Given the description of an element on the screen output the (x, y) to click on. 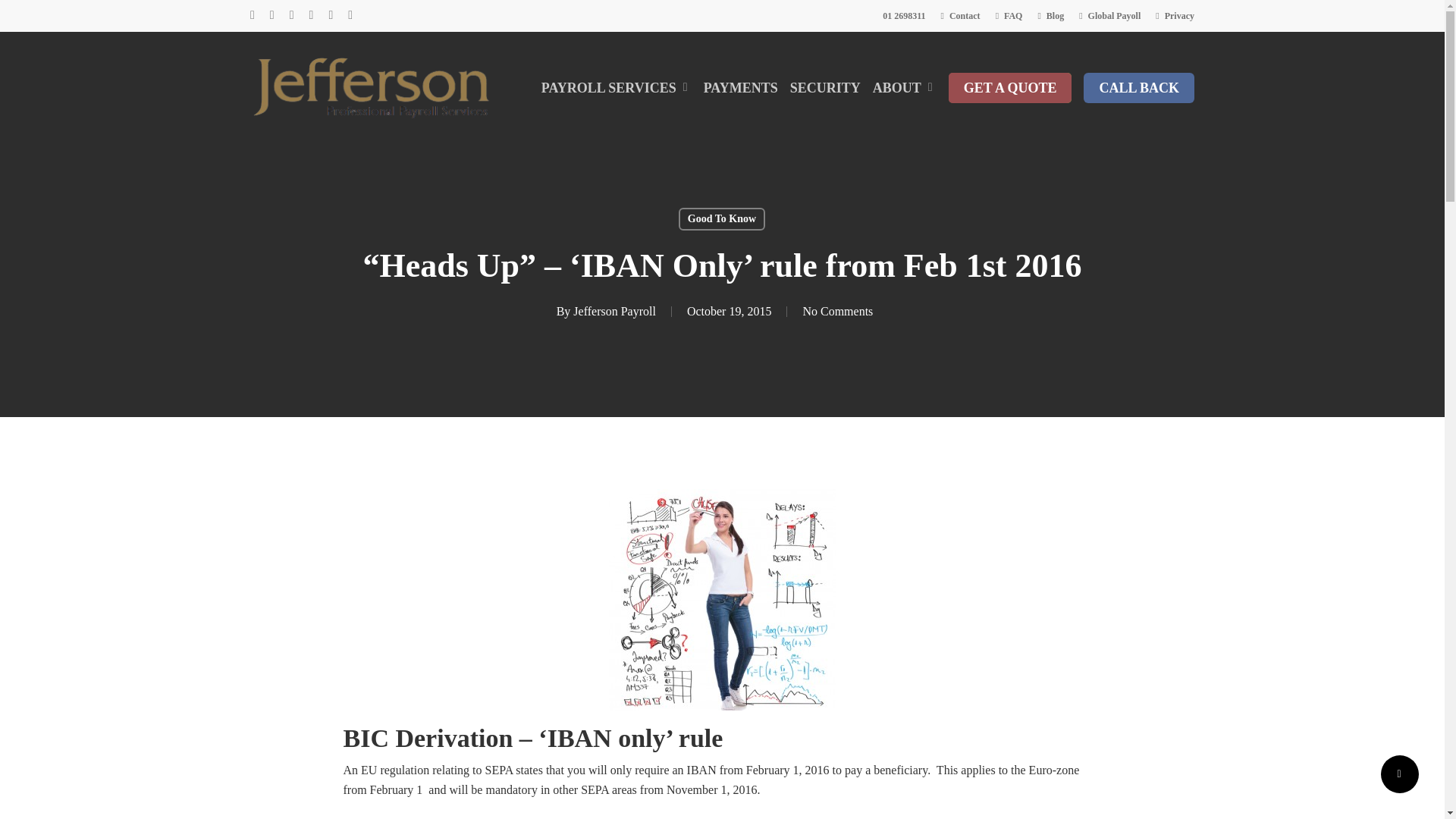
Global Payoll (1109, 15)
CALL BACK (1138, 87)
01 2698311 (903, 15)
Contact (959, 15)
Privacy (1174, 15)
PAYMENTS (740, 87)
PAYROLL SERVICES (616, 87)
SECURITY (825, 87)
FAQ (1009, 15)
ABOUT (904, 87)
Good To Know (721, 219)
Blog (1050, 15)
No Comments (837, 310)
GET A QUOTE (1010, 87)
Posts by Jefferson Payroll (614, 310)
